Given the description of an element on the screen output the (x, y) to click on. 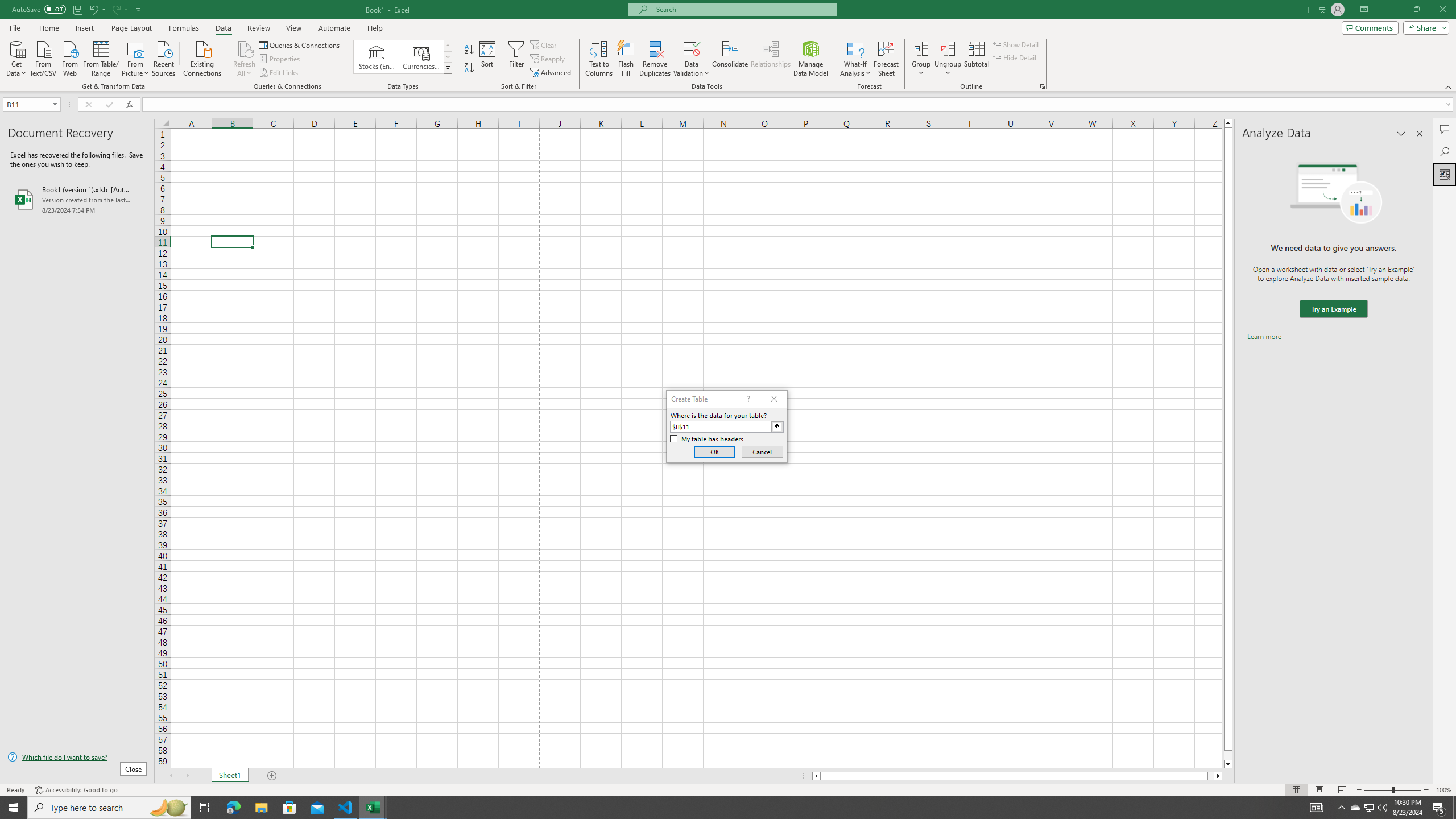
Recent Sources (163, 57)
Formula Bar (799, 104)
Sort Z to A (469, 67)
Remove Duplicates (654, 58)
